Given the description of an element on the screen output the (x, y) to click on. 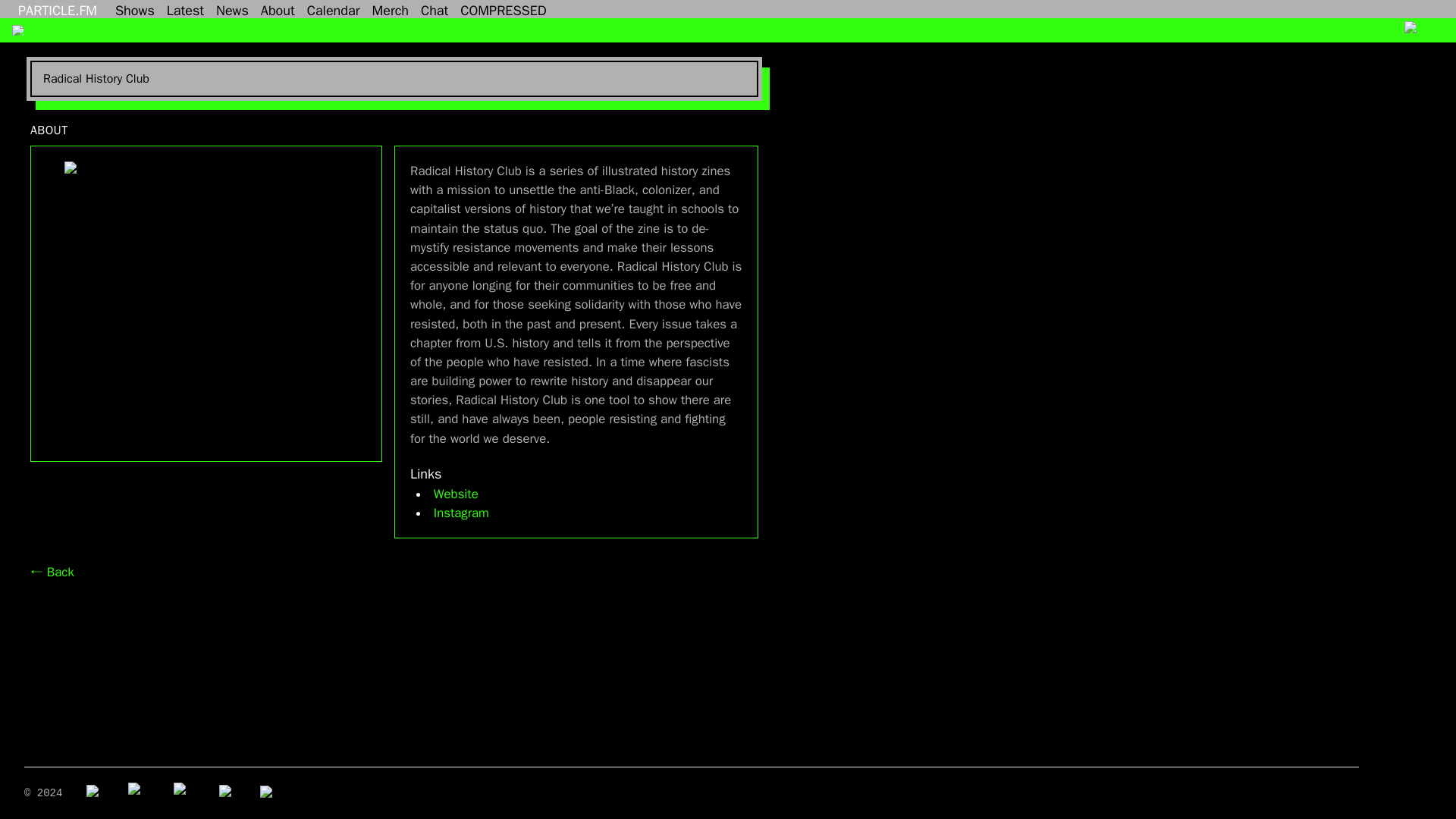
Calendar (333, 9)
PARTICLE.FM (57, 9)
Instagram (461, 512)
COMPRESSED (502, 9)
About (277, 9)
Website (456, 494)
Latest (184, 9)
Chat (434, 9)
Shows (134, 9)
News (231, 9)
Merch (389, 9)
